Given the description of an element on the screen output the (x, y) to click on. 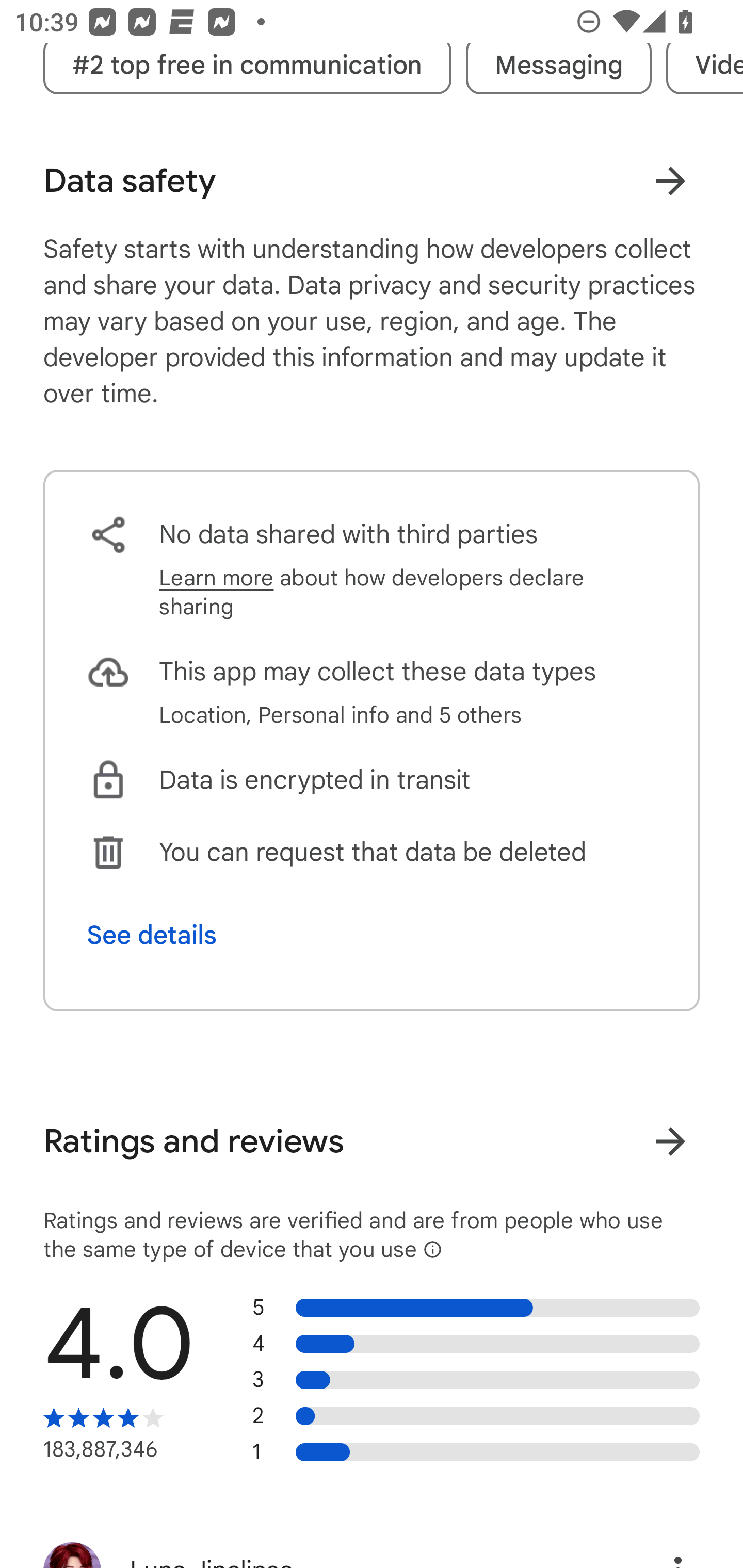
#2 top free in communication tag (247, 64)
Messaging tag (558, 64)
Data safety Learn more about data safety (371, 181)
Learn more about data safety (670, 180)
Learn more about how developers declare sharing (407, 592)
See details (151, 935)
Ratings and reviews View all ratings and reviews (371, 1141)
View all ratings and reviews (670, 1141)
